Given the description of an element on the screen output the (x, y) to click on. 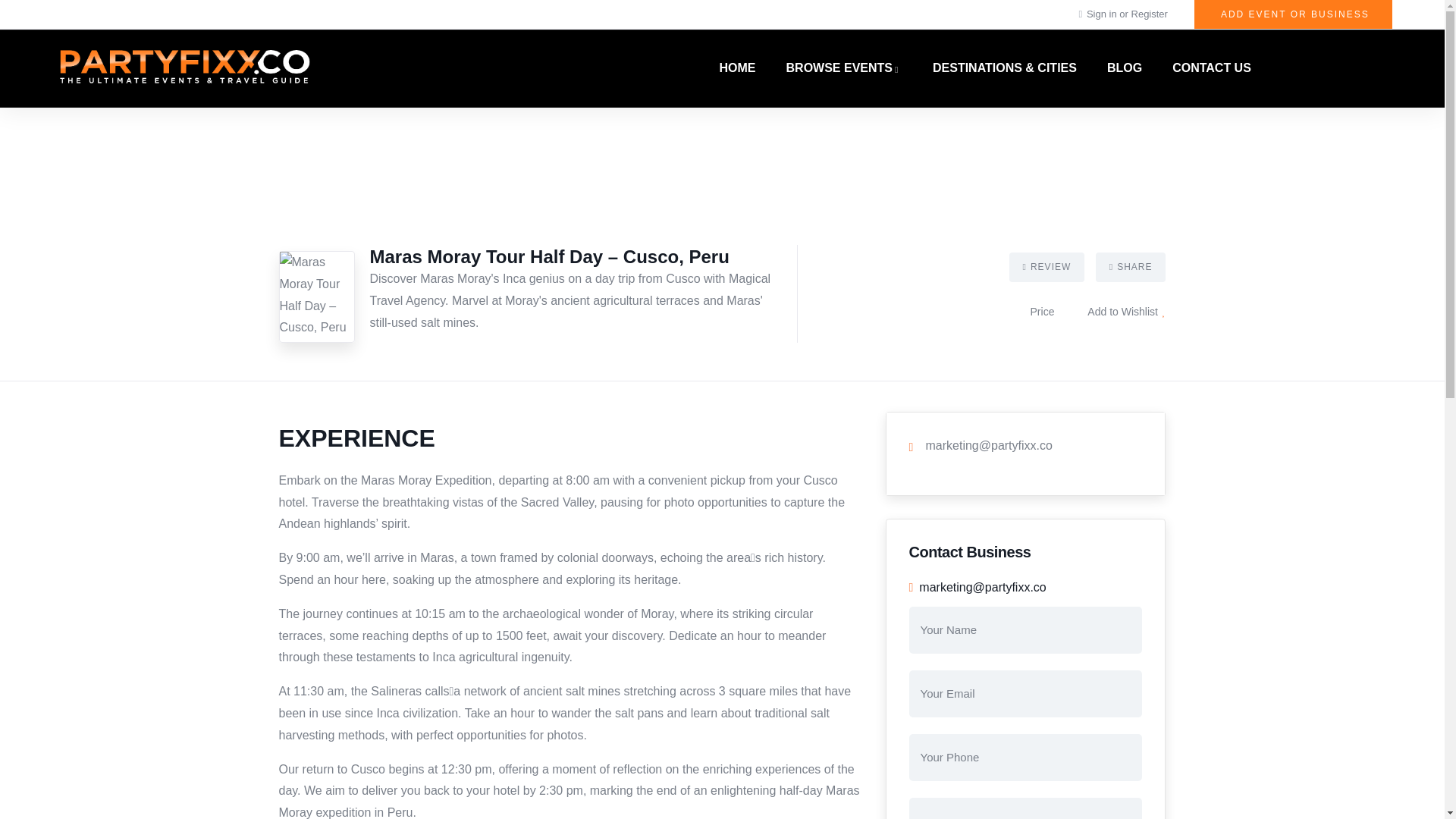
Wishlist (1126, 311)
ADD EVENT OR BUSINESS (1292, 14)
Register (1149, 13)
Sign in (1102, 13)
BROWSE EVENTS (844, 68)
Home (184, 67)
REVIEW (1046, 266)
